Given the description of an element on the screen output the (x, y) to click on. 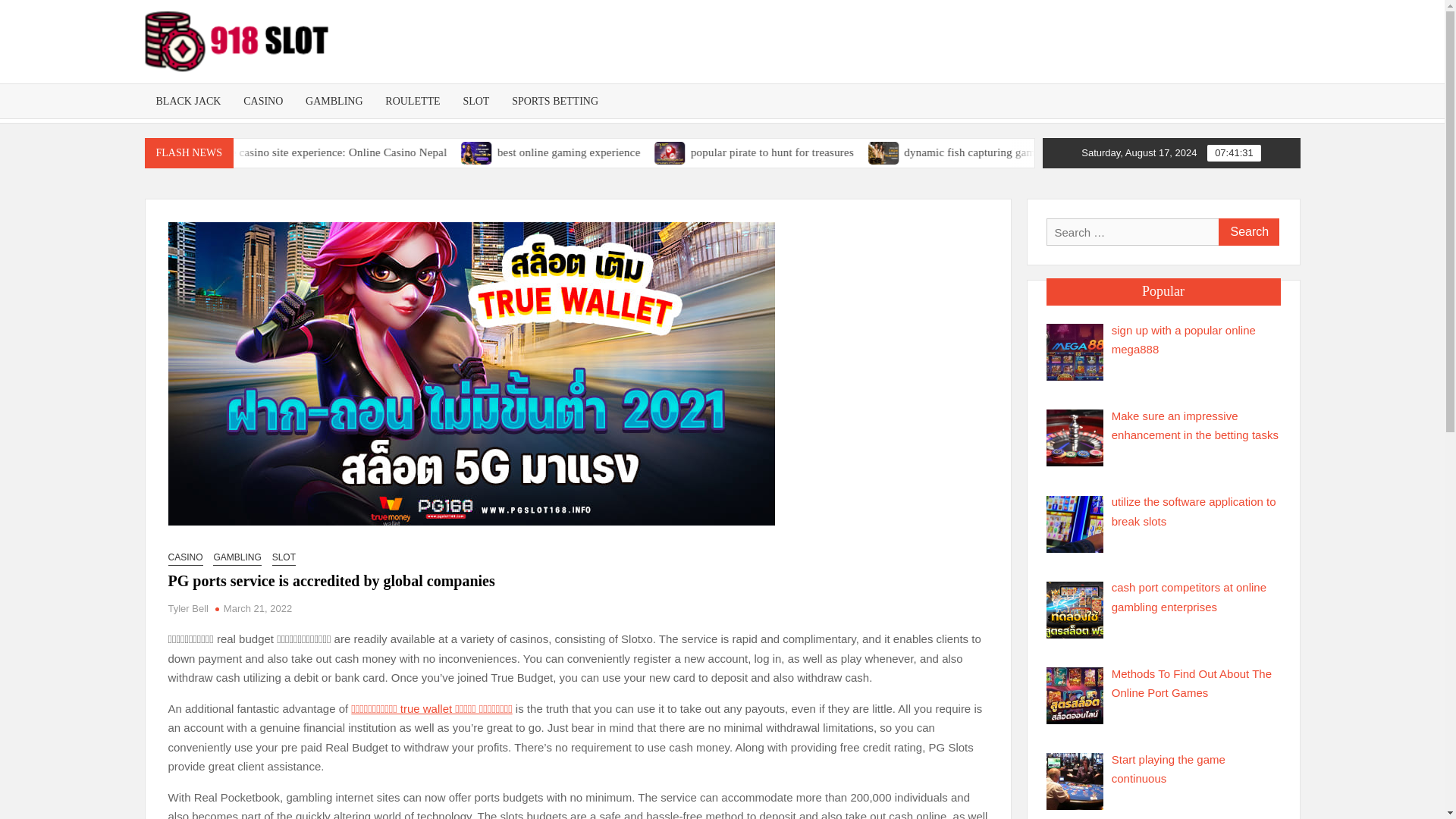
best online gaming experience (720, 152)
dynamic fish capturing games (993, 151)
Search (1247, 231)
Search (1247, 231)
popular pirate to hunt for treasures (882, 152)
best online gaming experience (594, 151)
popular pirate to hunt for treasures (783, 151)
ROULETTE (412, 100)
SLOT (475, 100)
